Given the description of an element on the screen output the (x, y) to click on. 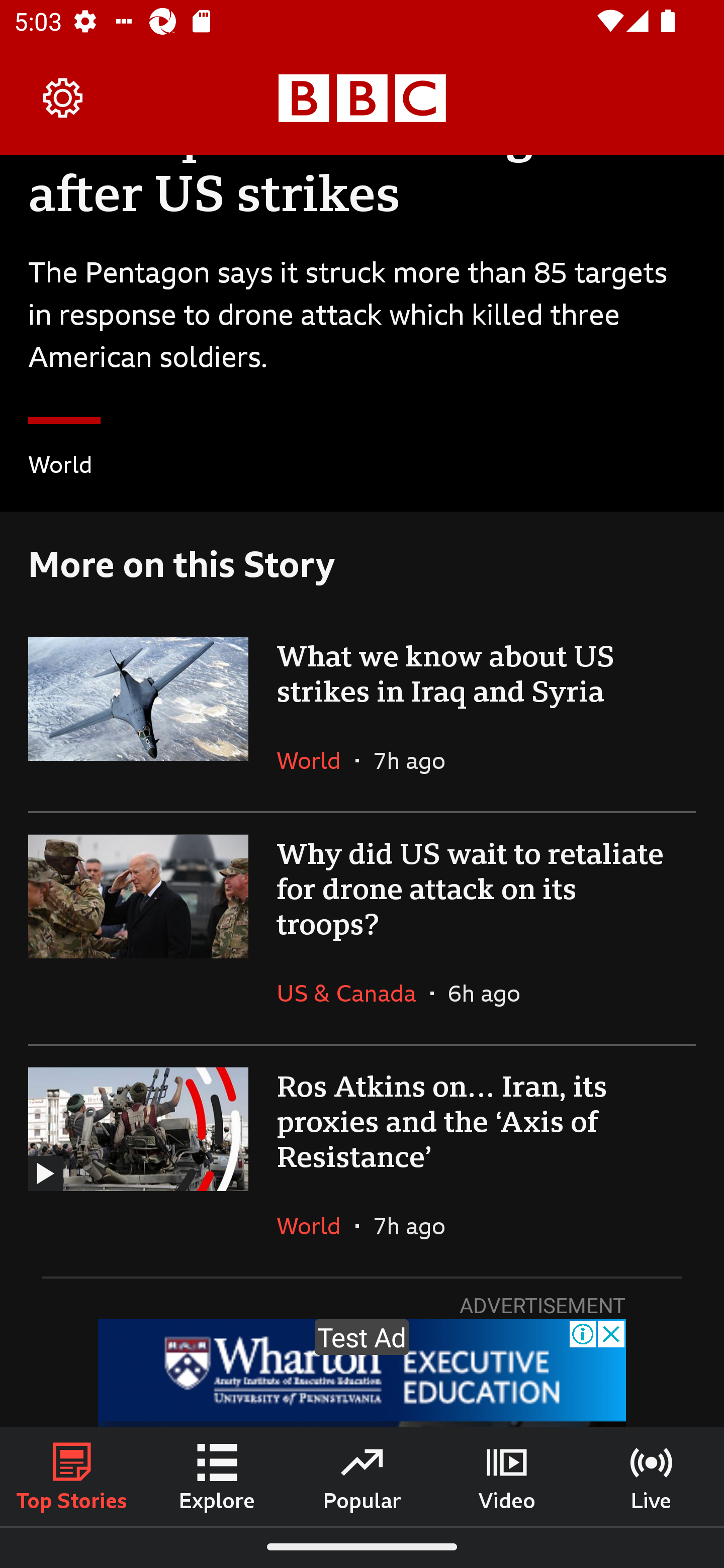
Settings (63, 97)
World In the section World (60, 467)
World In the section World (315, 760)
US & Canada In the section US & Canada (353, 993)
World In the section World (315, 1225)
Advertisement (361, 1372)
Explore (216, 1475)
Popular (361, 1475)
Video (506, 1475)
Live (651, 1475)
